Given the description of an element on the screen output the (x, y) to click on. 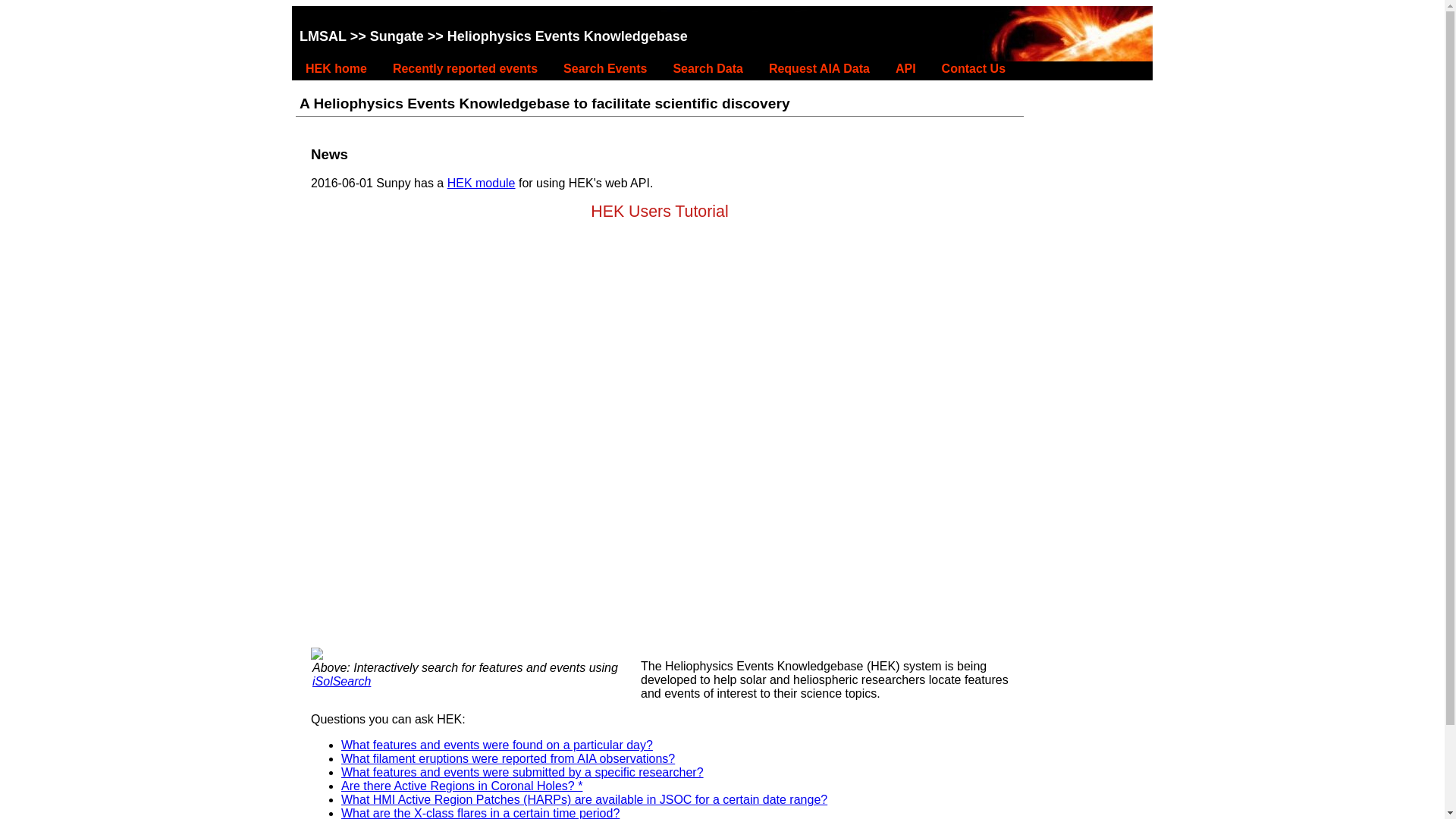
Sungate (396, 36)
Search Data (707, 68)
What are the X-class flares in a certain time period? (480, 812)
API (905, 68)
Search Events (604, 68)
HEK module (480, 182)
What features and events were found on a particular day? (496, 744)
What filament eruptions were reported from AIA observations? (507, 758)
Contact Us (974, 68)
HEK home (335, 68)
Recently reported events (465, 68)
iSolSearch (342, 680)
LMSAL (322, 36)
